Given the description of an element on the screen output the (x, y) to click on. 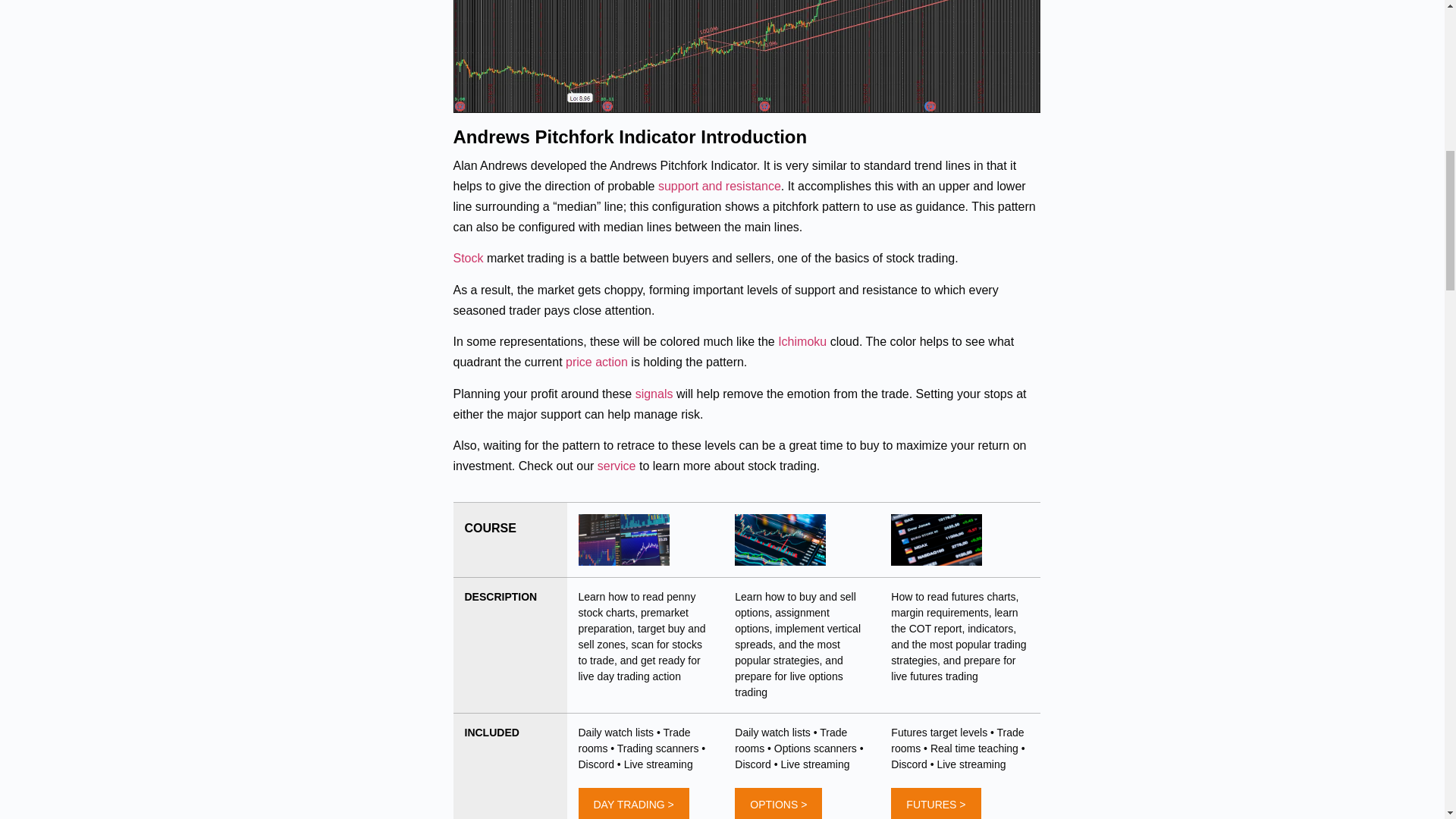
price action (596, 361)
Stock (467, 257)
Options Trading Course (780, 539)
Futures Trading Course (936, 539)
Day Trading Course (623, 539)
signals (653, 393)
